Given the description of an element on the screen output the (x, y) to click on. 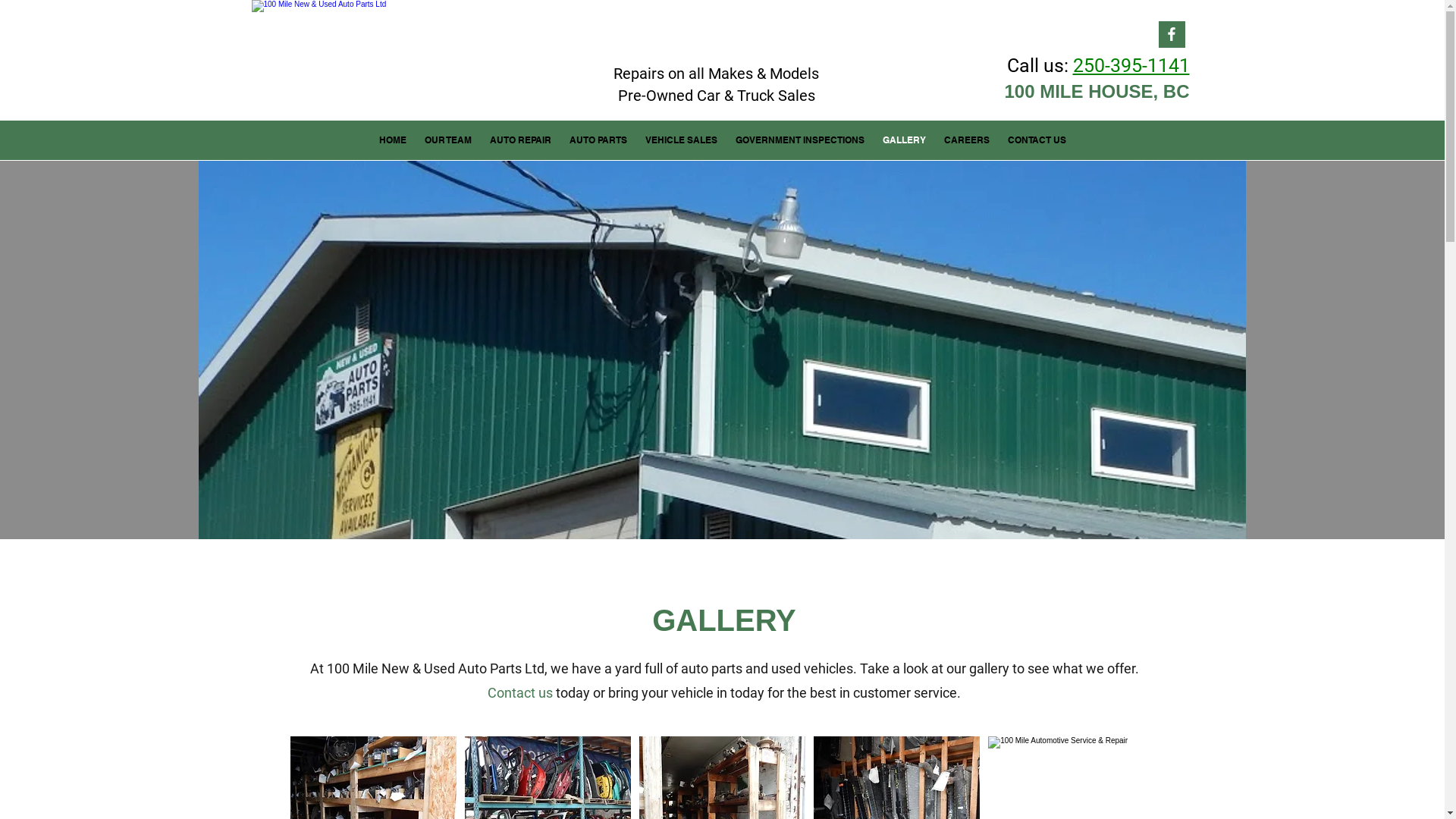
Contact us Element type: text (519, 692)
OUR TEAM Element type: text (448, 140)
GALLERY Element type: text (904, 140)
HOME Element type: text (392, 140)
CAREERS Element type: text (966, 140)
VEHICLE SALES Element type: text (680, 140)
CONTACT US Element type: text (1036, 140)
GOVERNMENT INSPECTIONS Element type: text (800, 140)
